Given the description of an element on the screen output the (x, y) to click on. 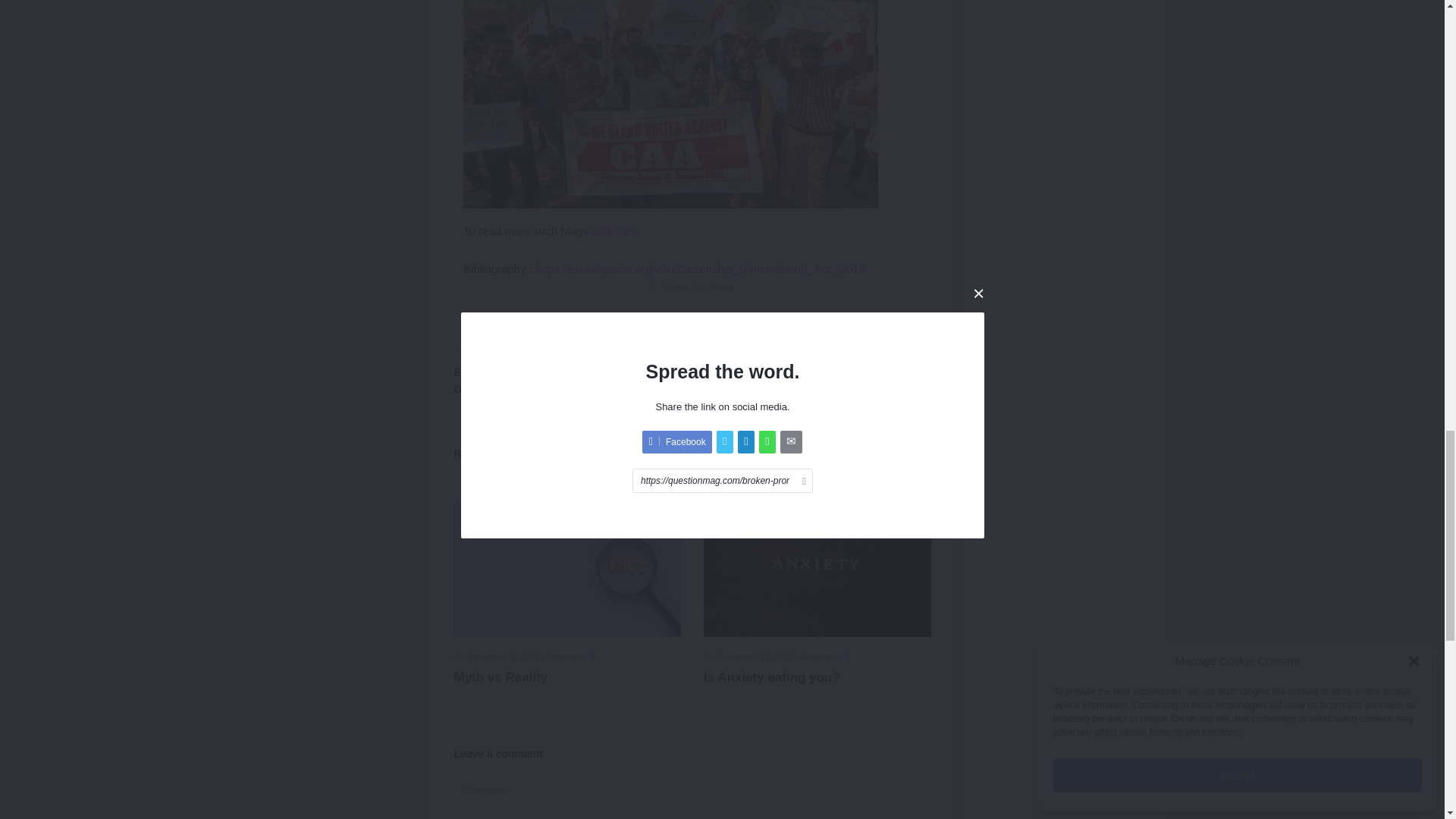
Myth vs Reality (566, 678)
Is Anxiety eating you? (817, 678)
